Given the description of an element on the screen output the (x, y) to click on. 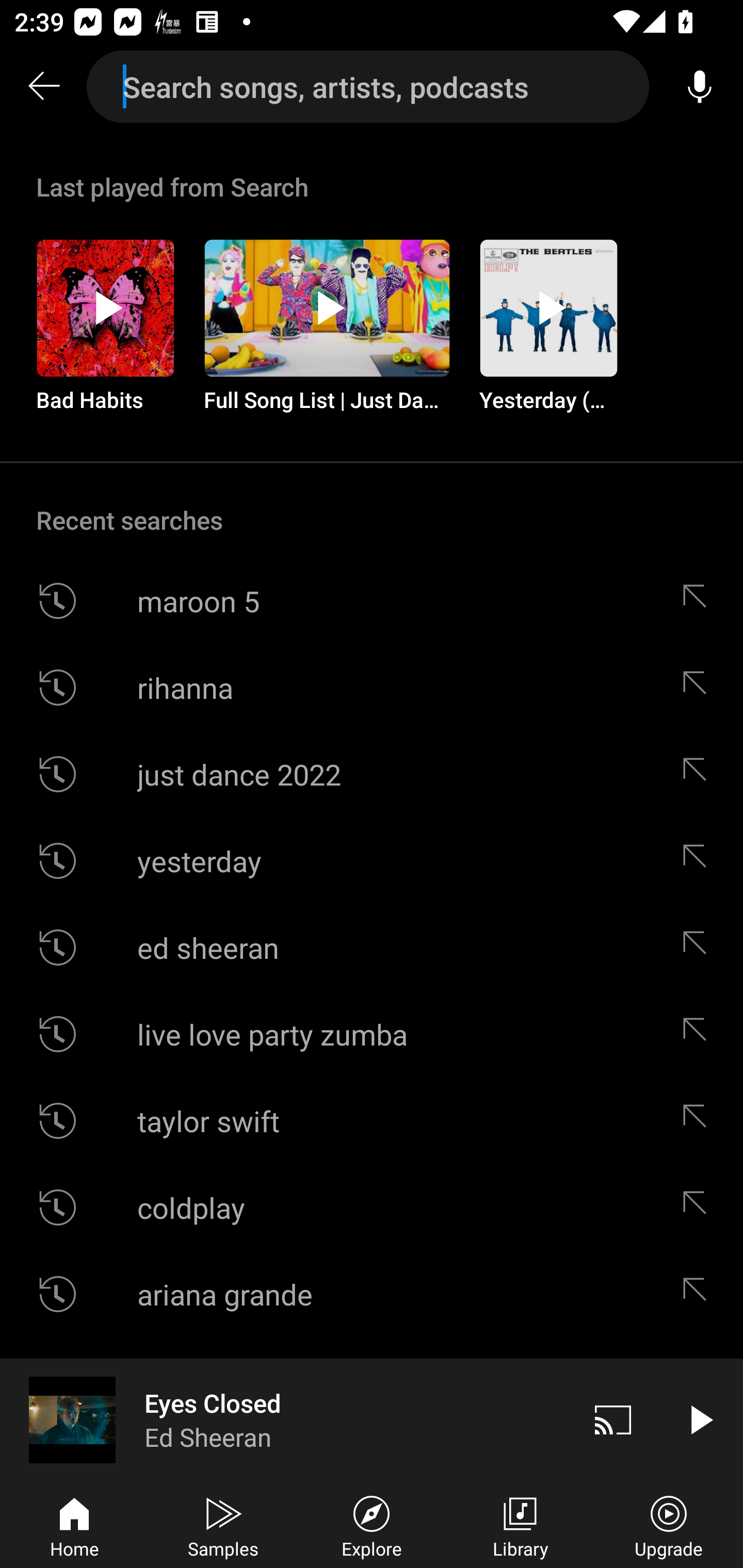
Search back (43, 86)
Search songs, artists, podcasts (367, 86)
Voice search (699, 86)
maroon 5 Edit suggestion maroon 5 (371, 601)
Edit suggestion maroon 5 (699, 601)
rihanna Edit suggestion rihanna (371, 687)
Edit suggestion rihanna (699, 687)
just dance 2022 Edit suggestion just dance 2022 (371, 773)
Edit suggestion just dance 2022 (699, 773)
yesterday Edit suggestion yesterday (371, 860)
Edit suggestion yesterday (699, 860)
ed sheeran Edit suggestion ed sheeran (371, 947)
Edit suggestion ed sheeran (699, 947)
Edit suggestion live love party zumba (699, 1033)
taylor swift Edit suggestion taylor swift (371, 1120)
Edit suggestion taylor swift (699, 1120)
coldplay Edit suggestion coldplay (371, 1207)
Edit suggestion coldplay (699, 1207)
ariana grande Edit suggestion ariana grande (371, 1294)
Edit suggestion ariana grande (699, 1294)
Eyes Closed Ed Sheeran (284, 1419)
Cast. Disconnected (612, 1419)
Play video (699, 1419)
Home (74, 1524)
Samples (222, 1524)
Explore (371, 1524)
Library (519, 1524)
Upgrade (668, 1524)
